Given the description of an element on the screen output the (x, y) to click on. 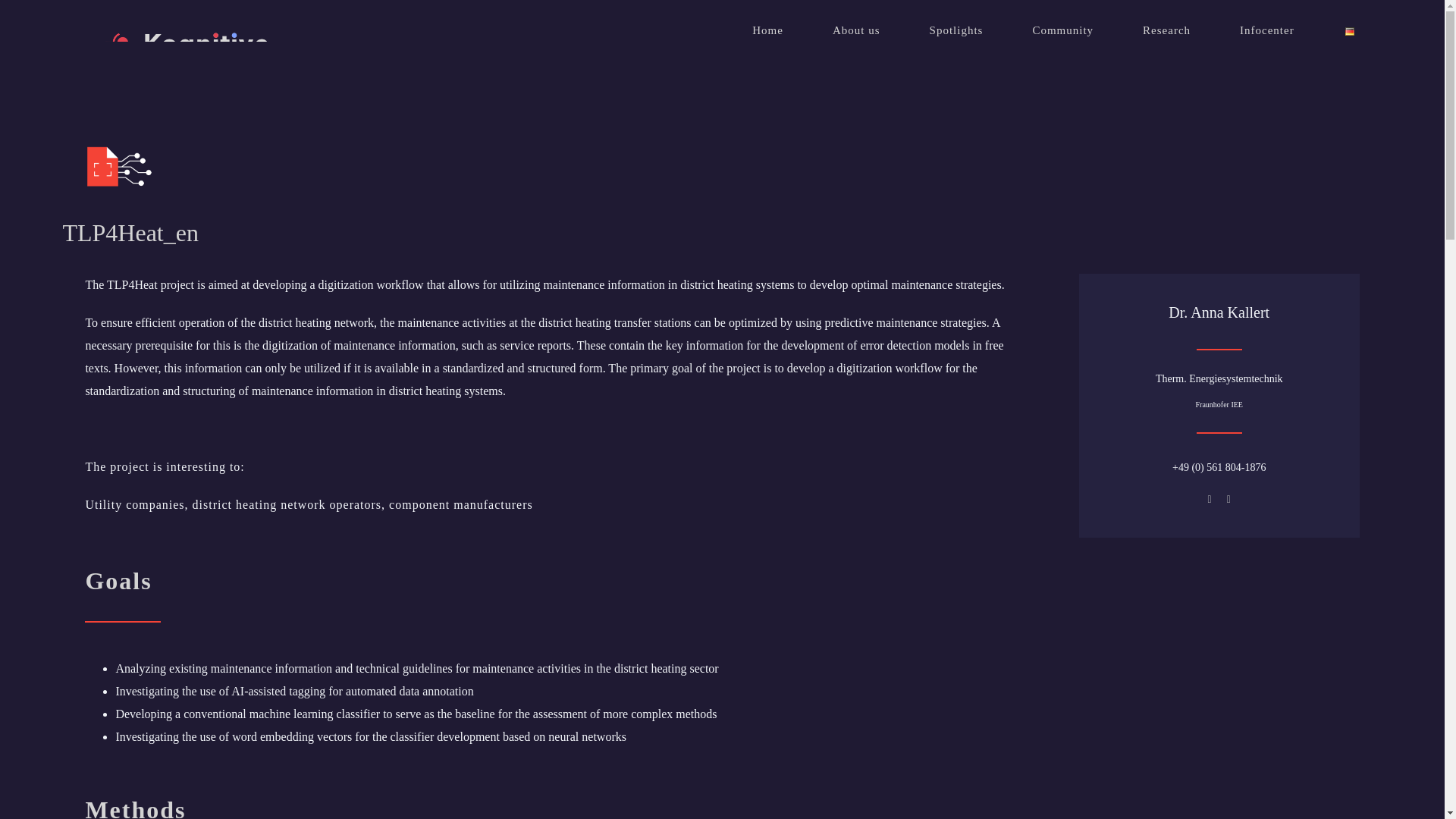
Research (1166, 30)
Infocenter (1267, 30)
Community (1062, 30)
Spotlights (957, 30)
TLP4Heat (213, 168)
About us (856, 30)
G Therm. Energiesystemtechnik (1218, 378)
